Given the description of an element on the screen output the (x, y) to click on. 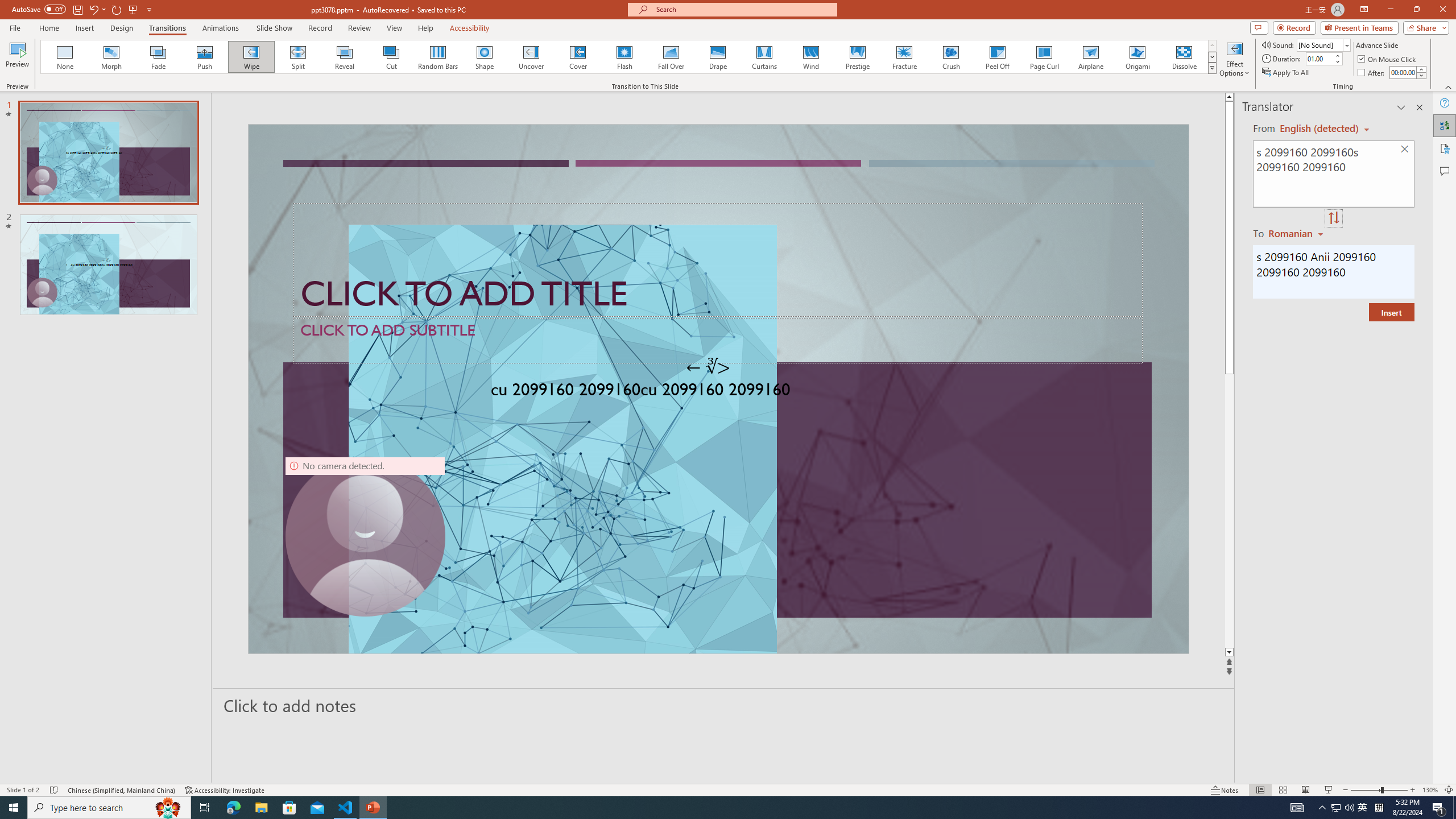
Peel Off (997, 56)
Clear text (1404, 149)
Reveal (344, 56)
Prestige (857, 56)
An abstract genetic concept (718, 388)
Fall Over (670, 56)
